Given the description of an element on the screen output the (x, y) to click on. 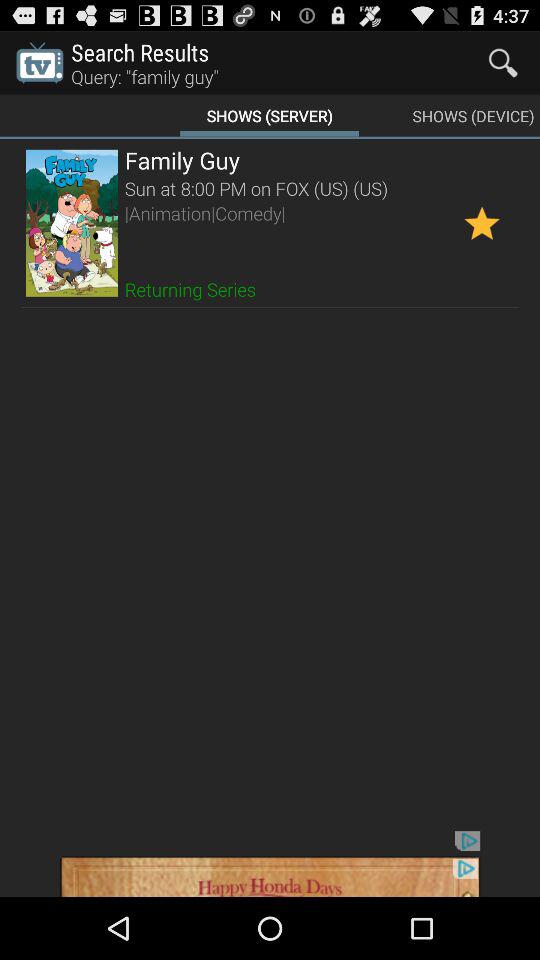
showing the advertisement (270, 864)
